Given the description of an element on the screen output the (x, y) to click on. 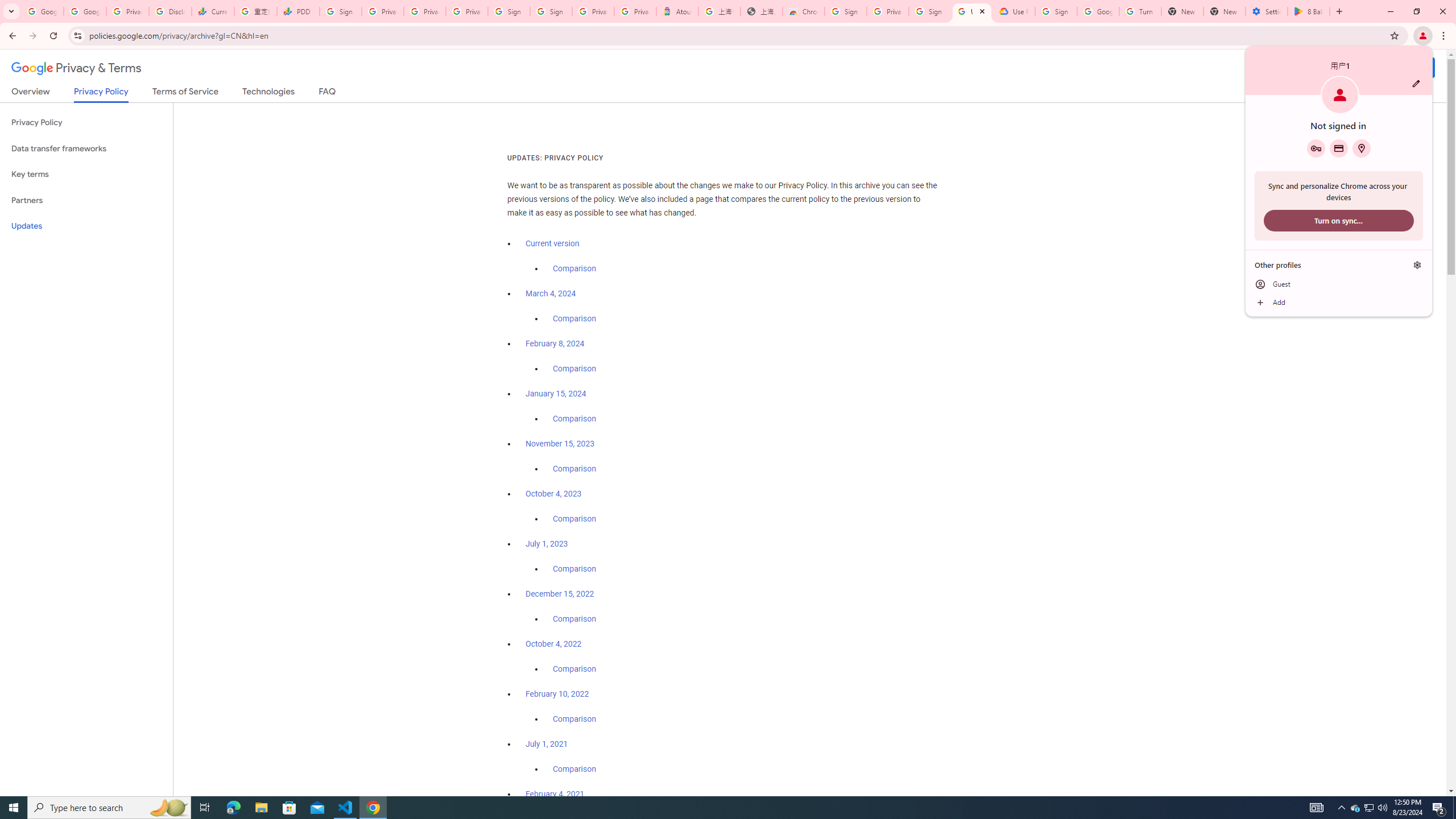
Settings - System (1266, 11)
Search highlights icon opens search home window (167, 807)
Type here to search (108, 807)
Visual Studio Code - 1 running window (345, 807)
